Given the description of an element on the screen output the (x, y) to click on. 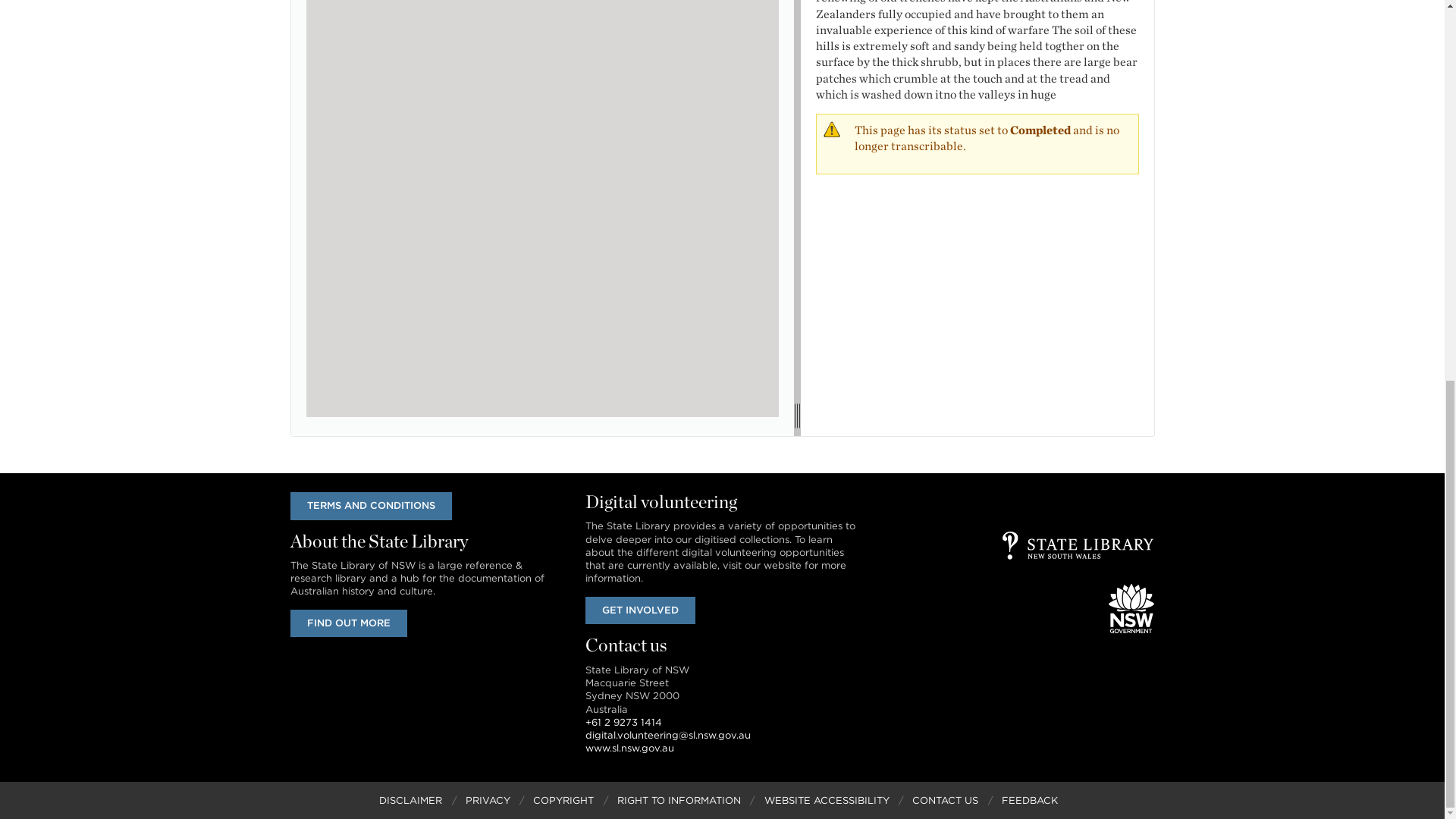
State Library of NSW (1078, 545)
NSW Government (1131, 608)
